Given the description of an element on the screen output the (x, y) to click on. 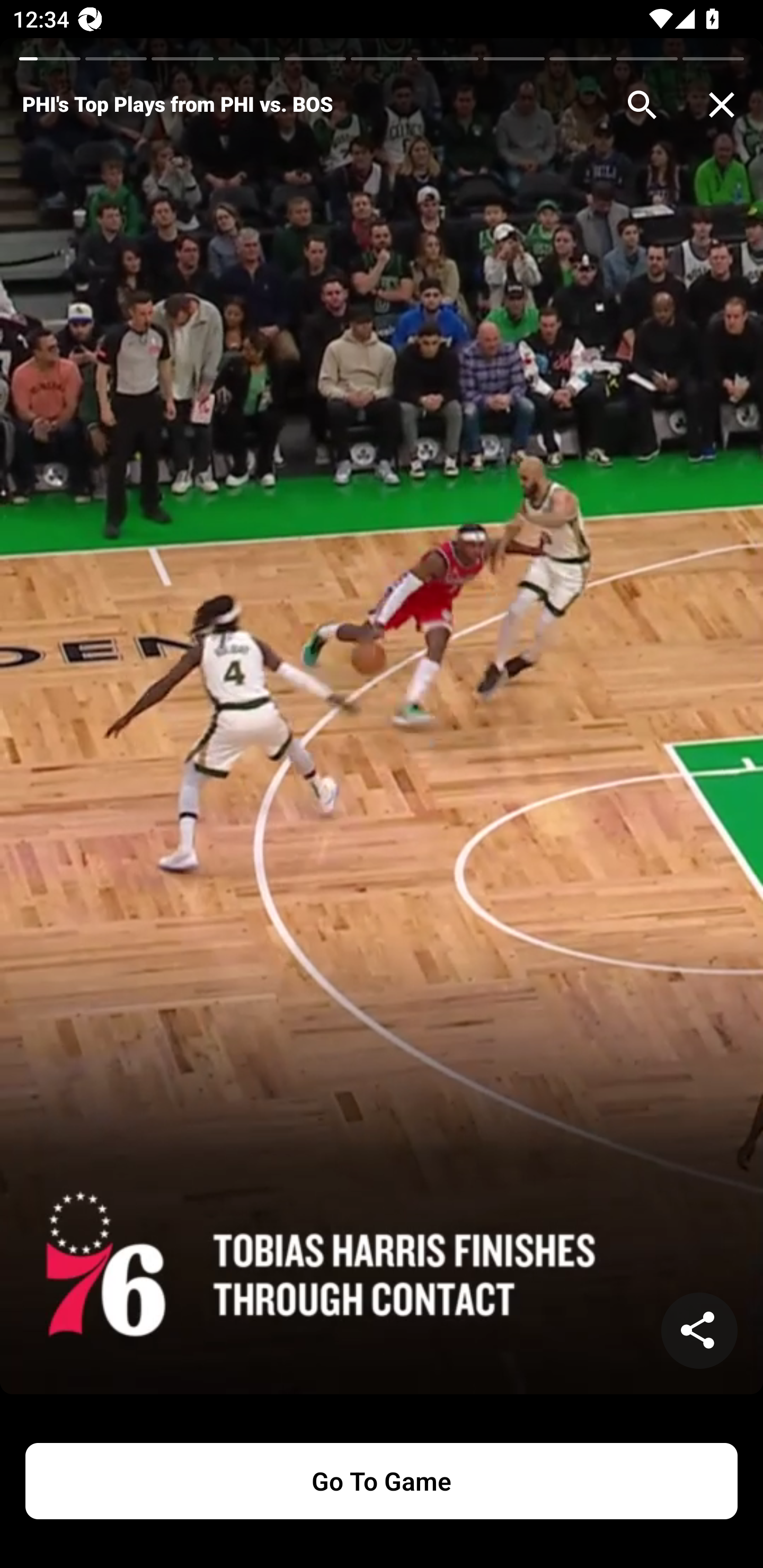
search (642, 104)
close (721, 104)
share (699, 1330)
Go To Game (381, 1480)
